Given the description of an element on the screen output the (x, y) to click on. 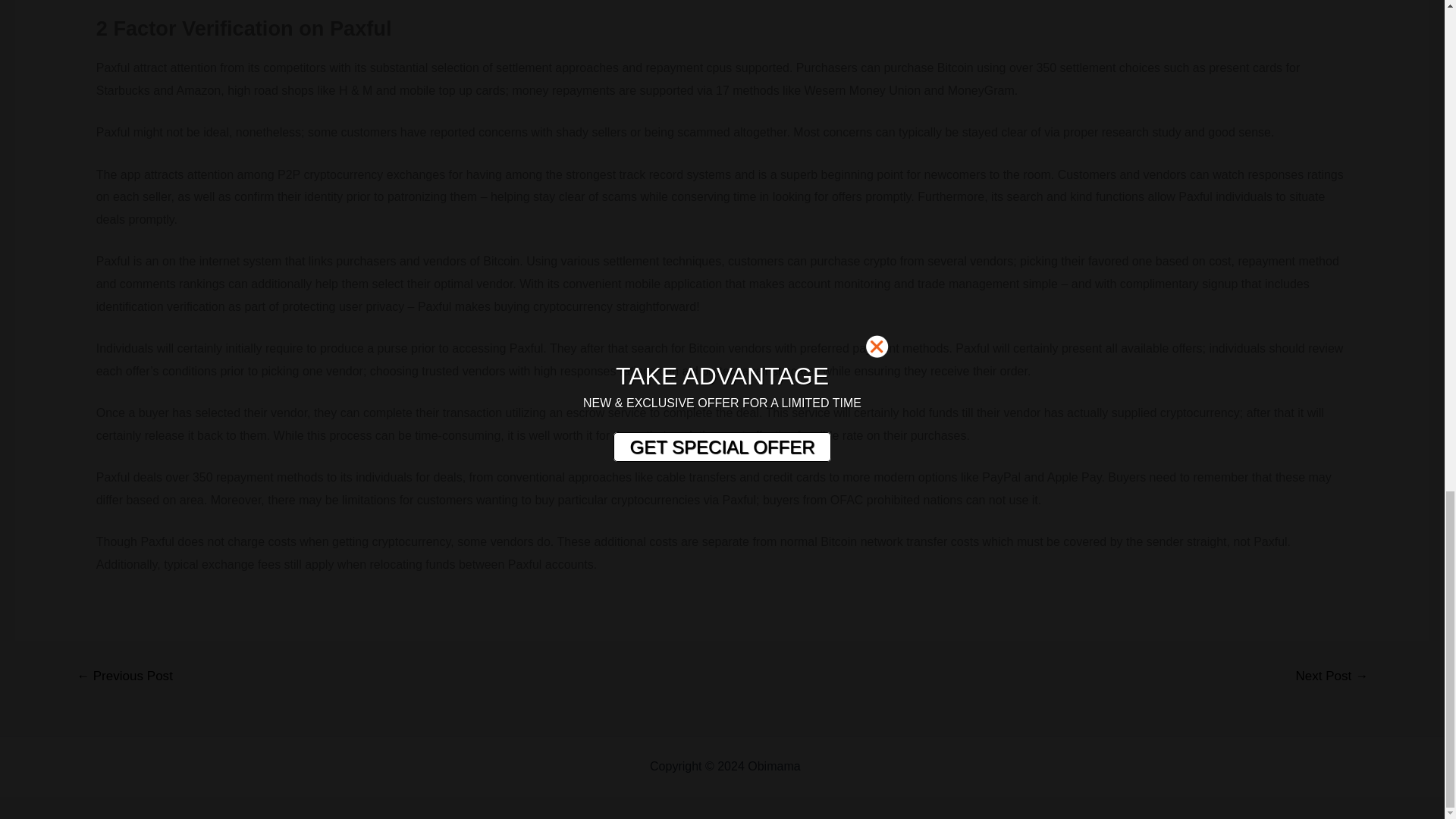
Sitemap (825, 766)
